Given the description of an element on the screen output the (x, y) to click on. 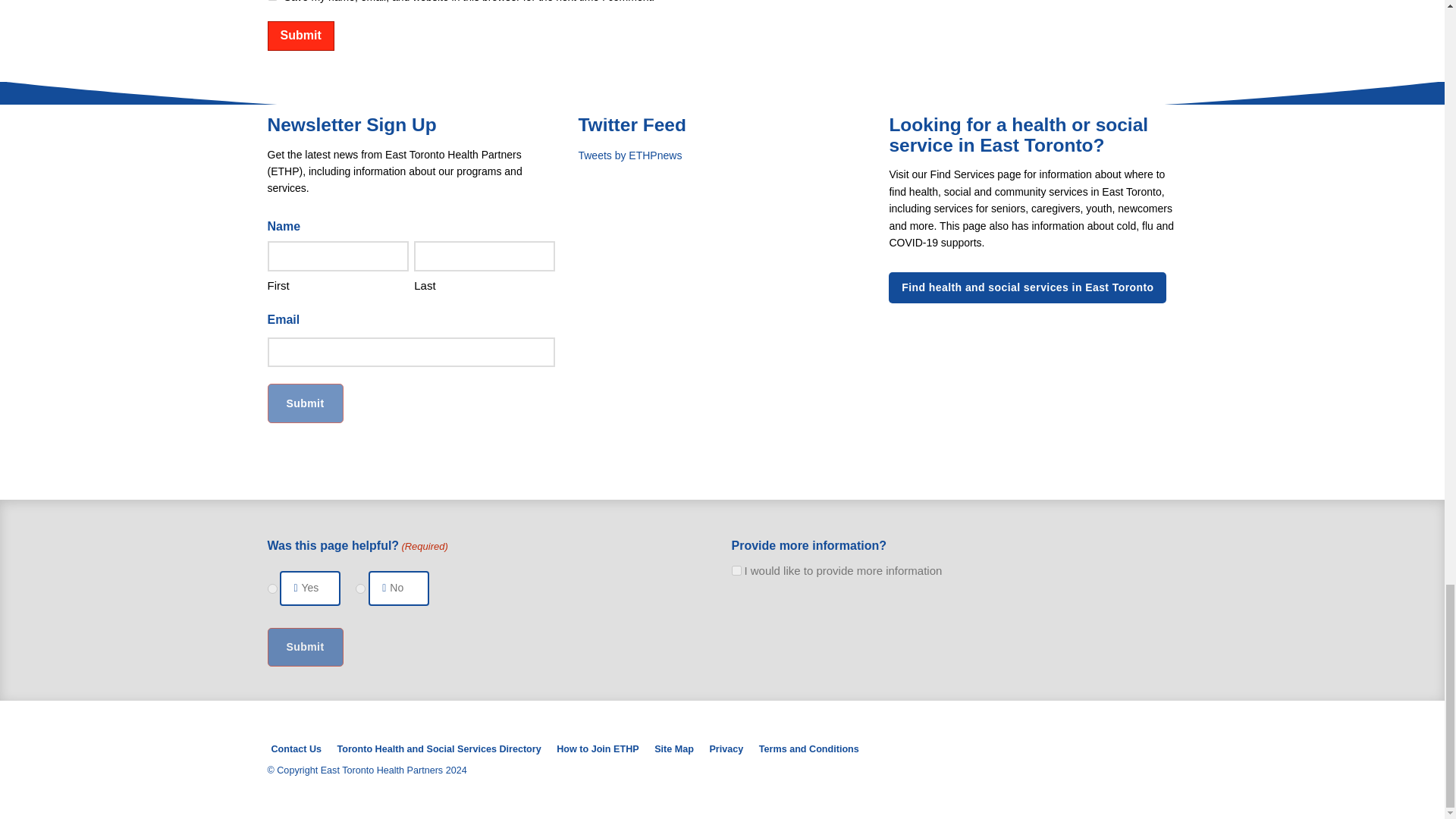
Yes (271, 588)
Submit (304, 403)
Submit (304, 403)
Submit (299, 35)
Submit (299, 35)
Find health and social services in East Toronto (1027, 286)
Tweets by ETHPnews (629, 155)
Submit (304, 647)
I would like to provide more information (735, 570)
No (360, 588)
